Given the description of an element on the screen output the (x, y) to click on. 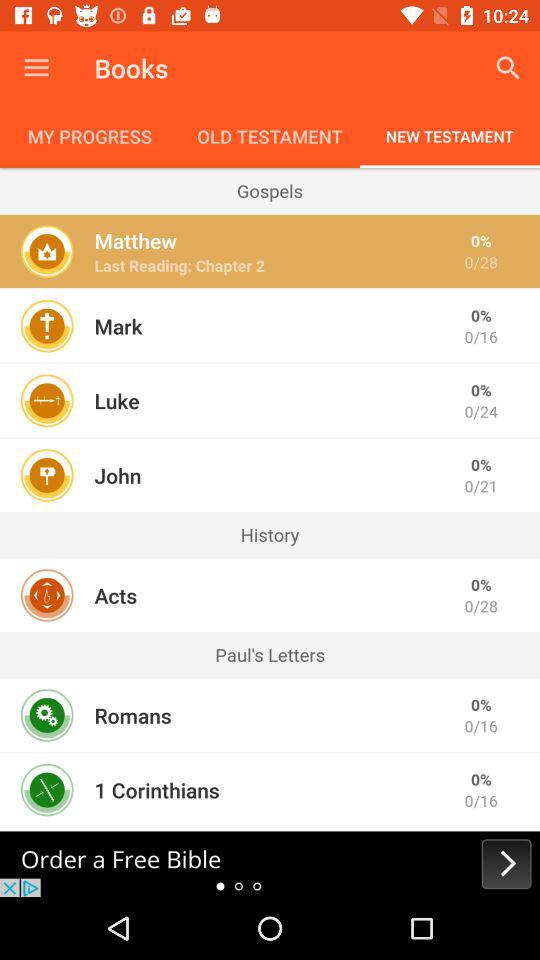
click the item to the right of books icon (508, 67)
